Given the description of an element on the screen output the (x, y) to click on. 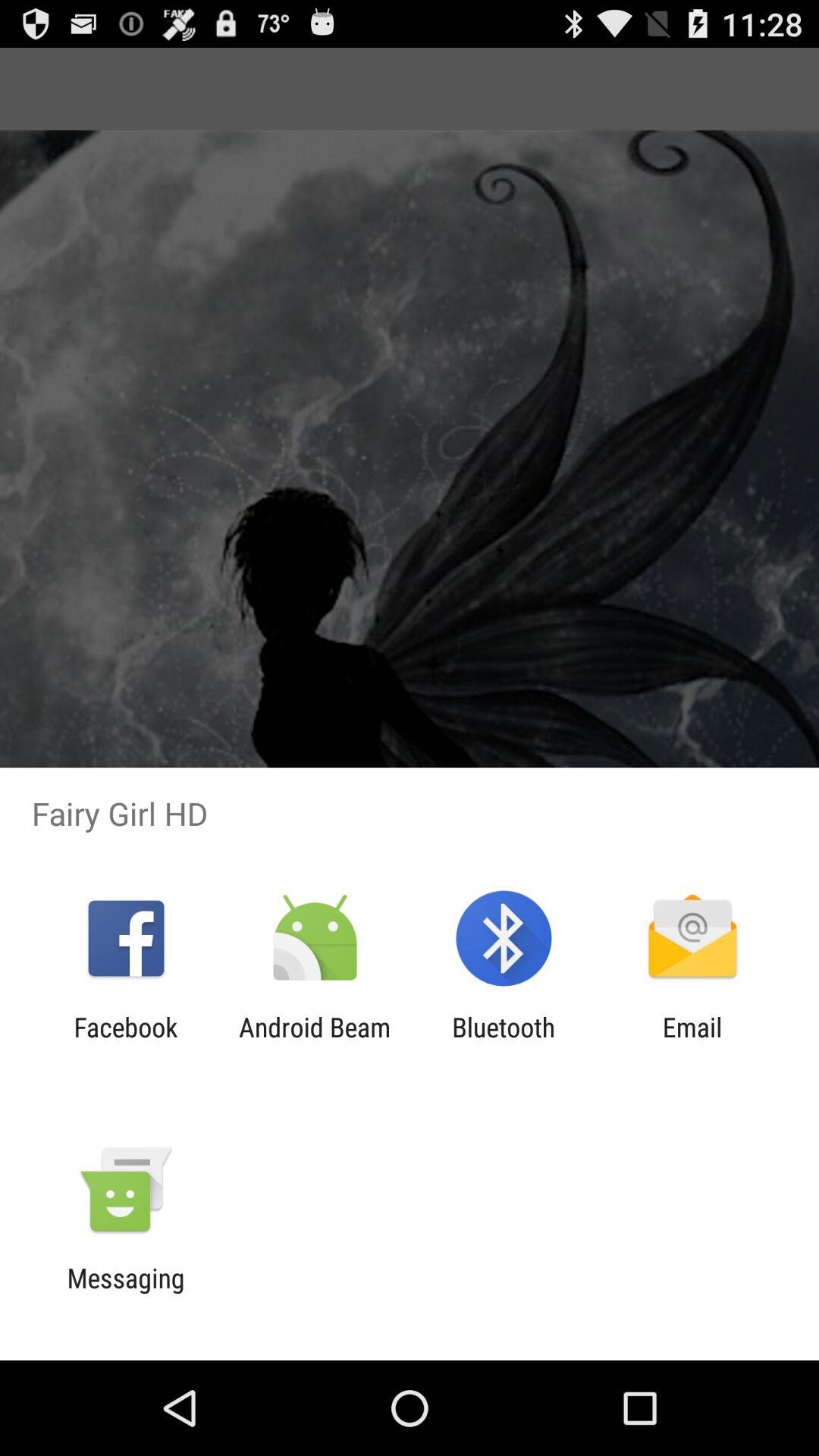
flip until messaging item (125, 1293)
